Given the description of an element on the screen output the (x, y) to click on. 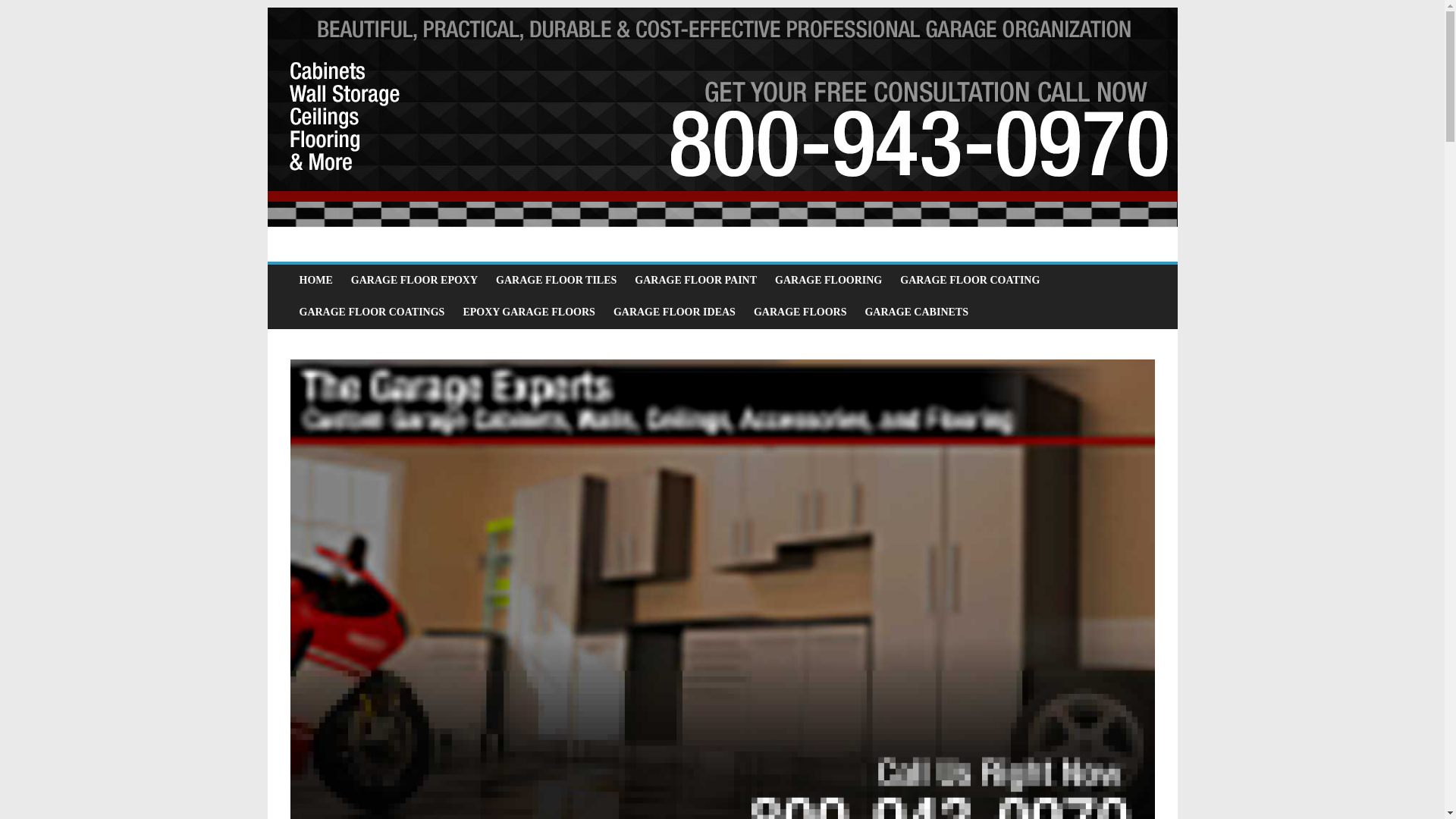
GARAGE FLOOR EPOXY (414, 280)
GARAGE FLOOR PAINT (695, 280)
EPOXY GARAGE FLOORS (528, 312)
GARAGE FLOORING (828, 280)
GARAGE FLOOR COATINGS (370, 312)
HOME (314, 280)
GARAGE FLOOR IDEAS (674, 312)
GARAGE FLOORS (800, 312)
GARAGE CABINETS (916, 312)
GARAGE FLOOR COATING (969, 280)
